Given the description of an element on the screen output the (x, y) to click on. 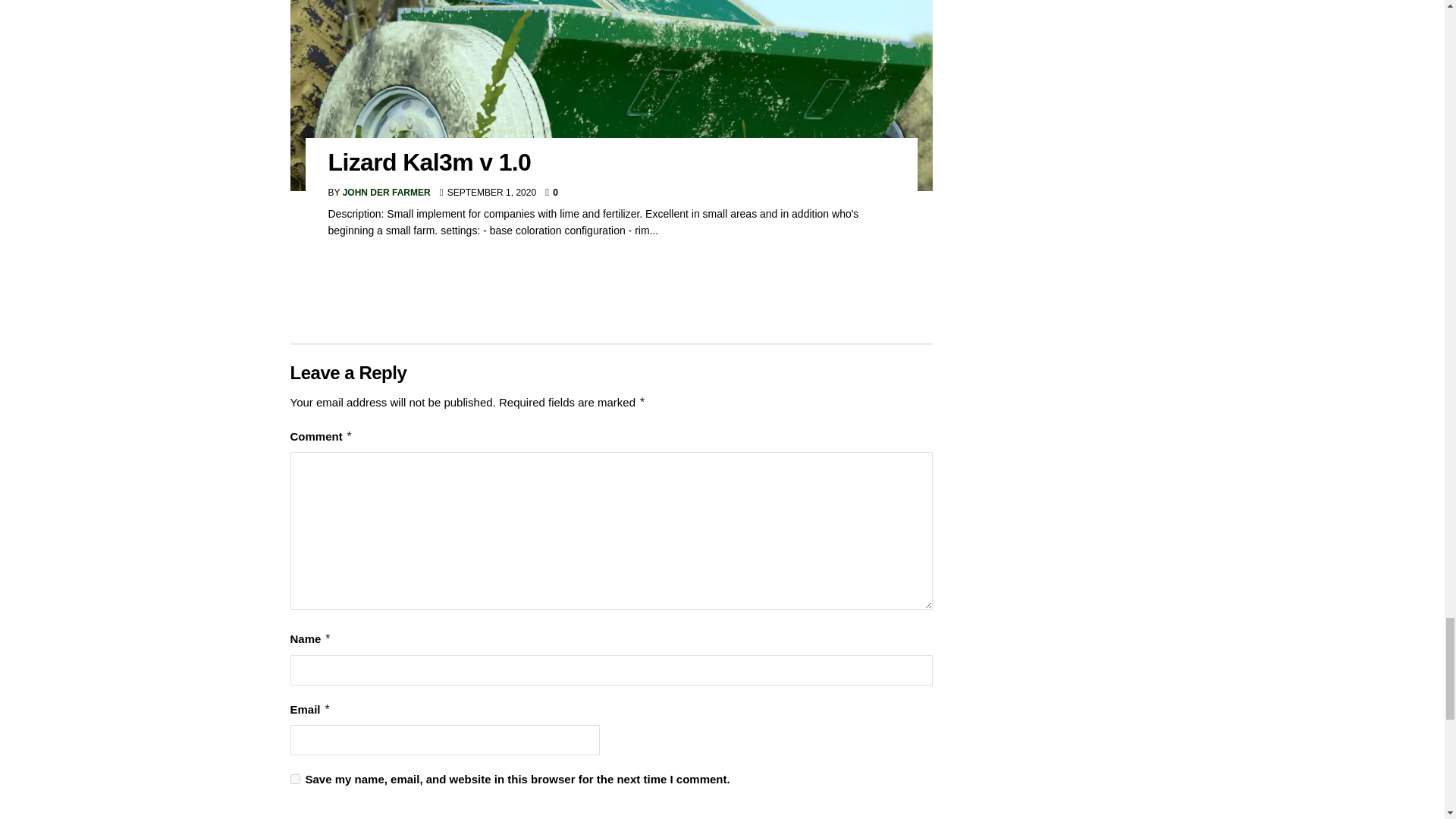
yes (294, 778)
